Given the description of an element on the screen output the (x, y) to click on. 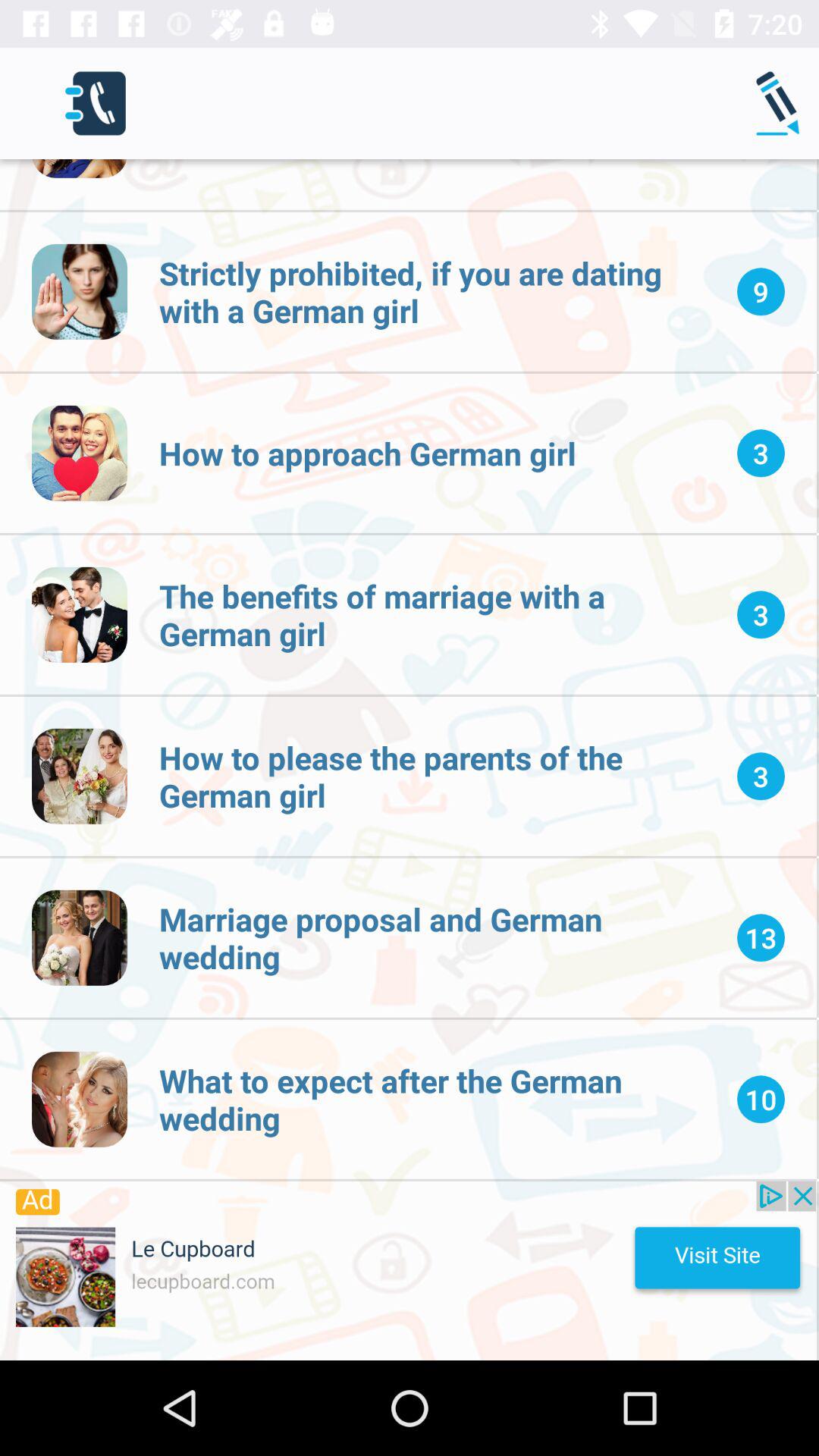
go to this advertised product (408, 1270)
